Given the description of an element on the screen output the (x, y) to click on. 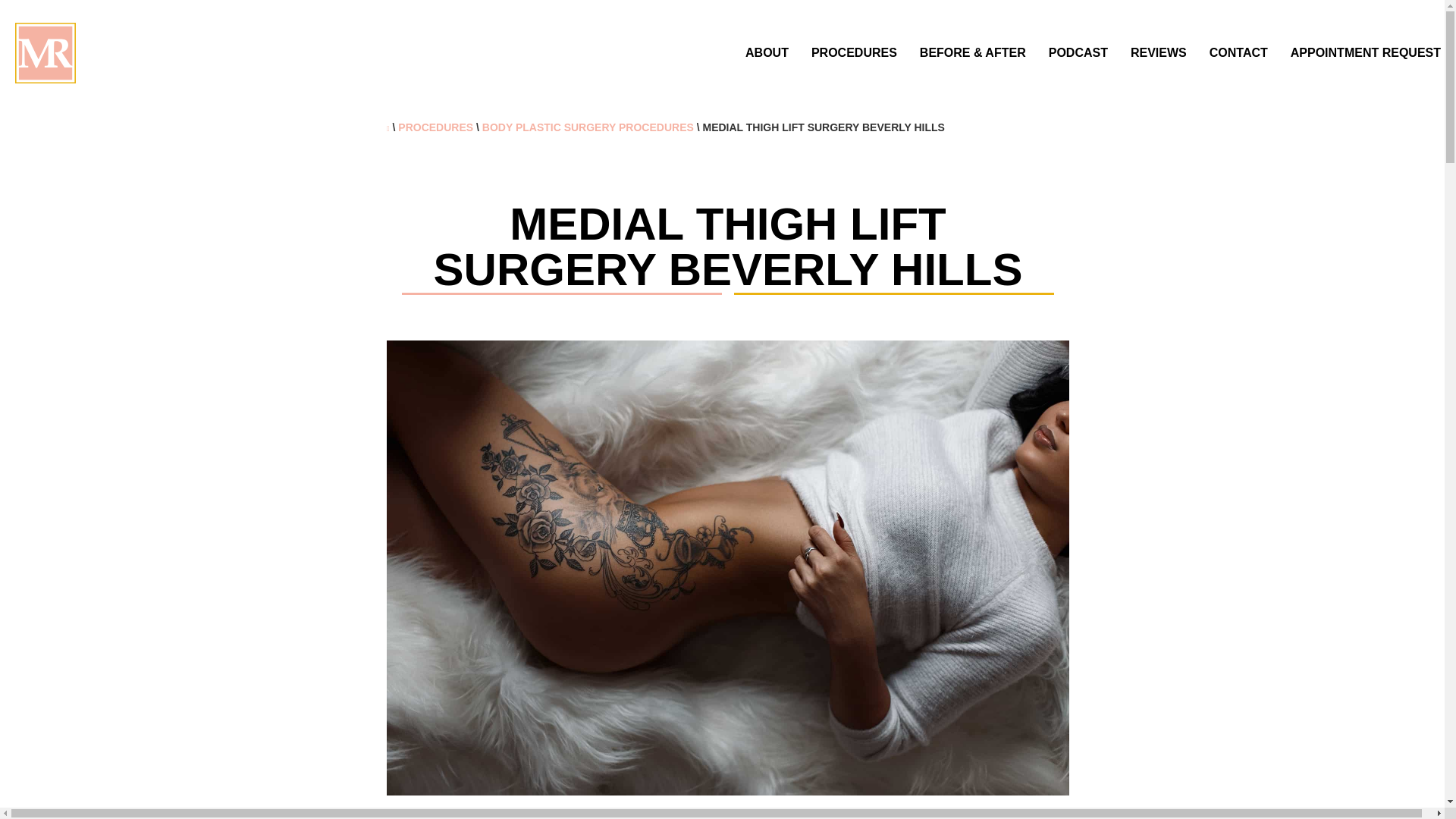
CONTACT (1238, 52)
ABOUT (767, 52)
REVIEWS (1158, 52)
APPOINTMENT REQUEST (1365, 52)
PODCAST (1078, 52)
PROCEDURES (435, 127)
BODY PLASTIC SURGERY PROCEDURES (587, 127)
PROCEDURES (853, 52)
